Given the description of an element on the screen output the (x, y) to click on. 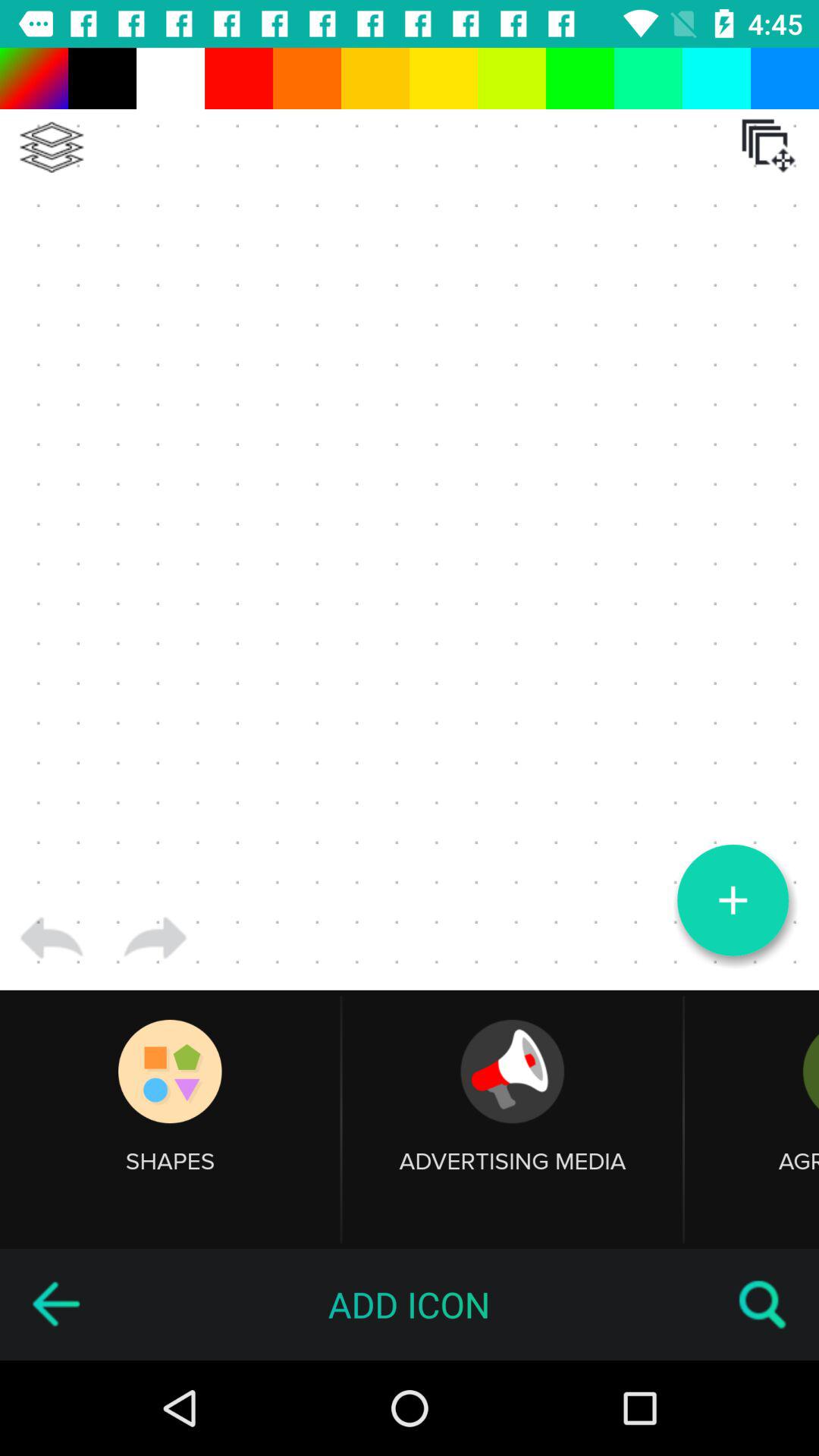
turn off the icon to the left of the add icon item (55, 1304)
